Given the description of an element on the screen output the (x, y) to click on. 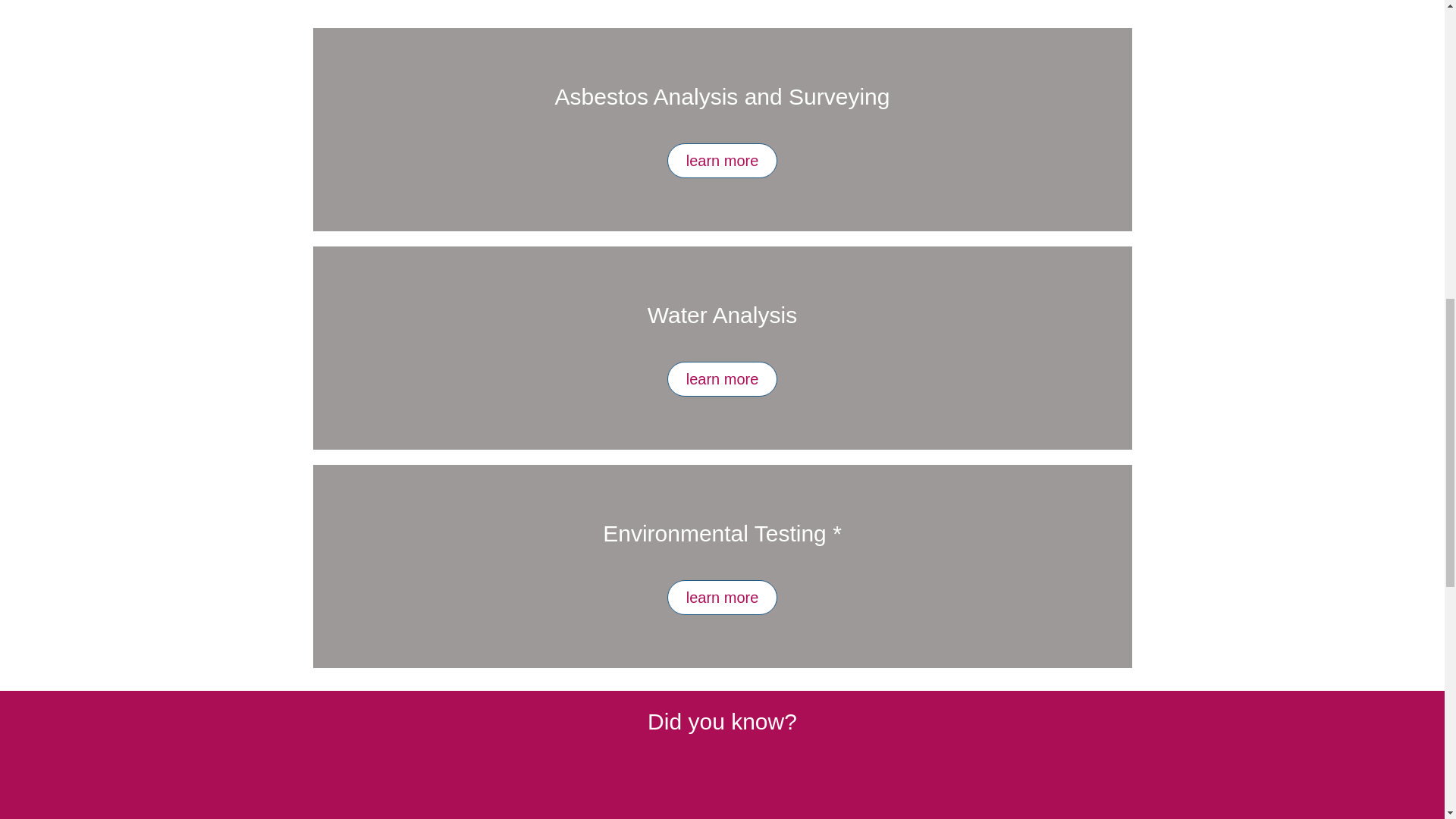
learn more (721, 160)
learn more (721, 597)
learn more (721, 378)
